Given the description of an element on the screen output the (x, y) to click on. 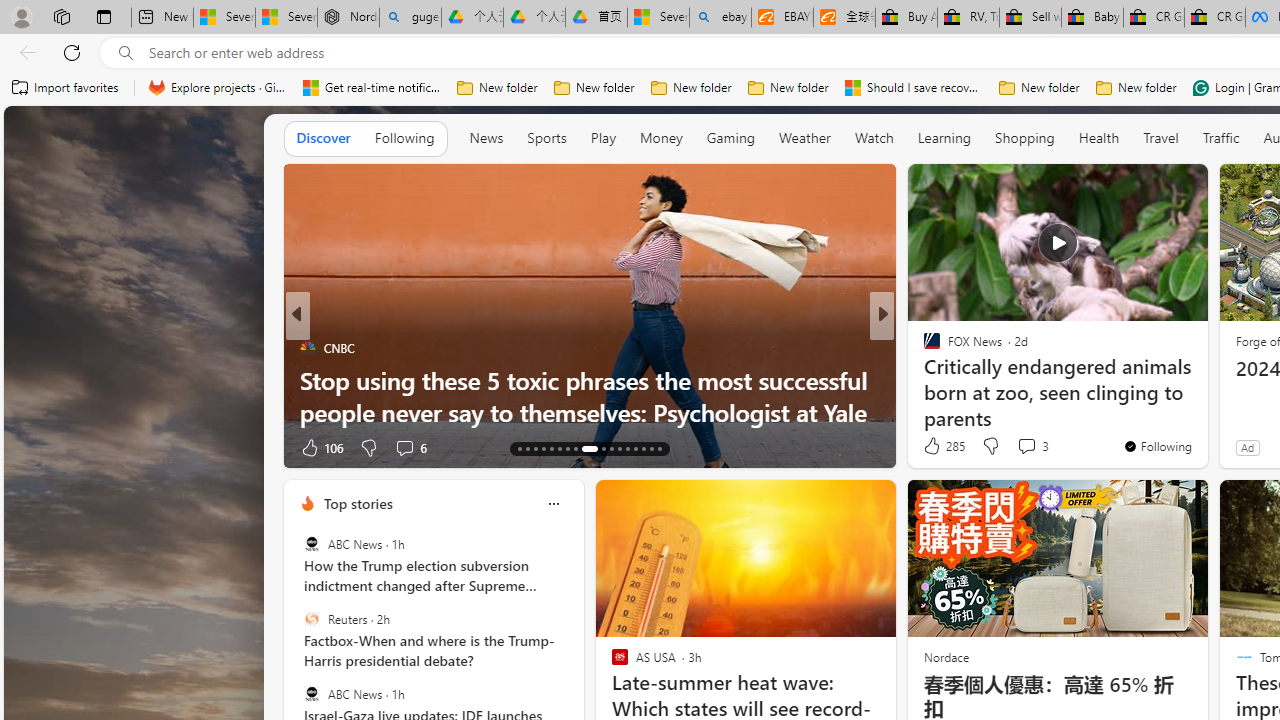
View comments 3 Comment (1032, 446)
Top stories (357, 503)
View comments 167 Comment (1025, 447)
Health (1099, 137)
AutomationID: tab-19 (567, 448)
AutomationID: tab-16 (542, 448)
guge yunpan - Search (410, 17)
22 Like (934, 447)
